Given the description of an element on the screen output the (x, y) to click on. 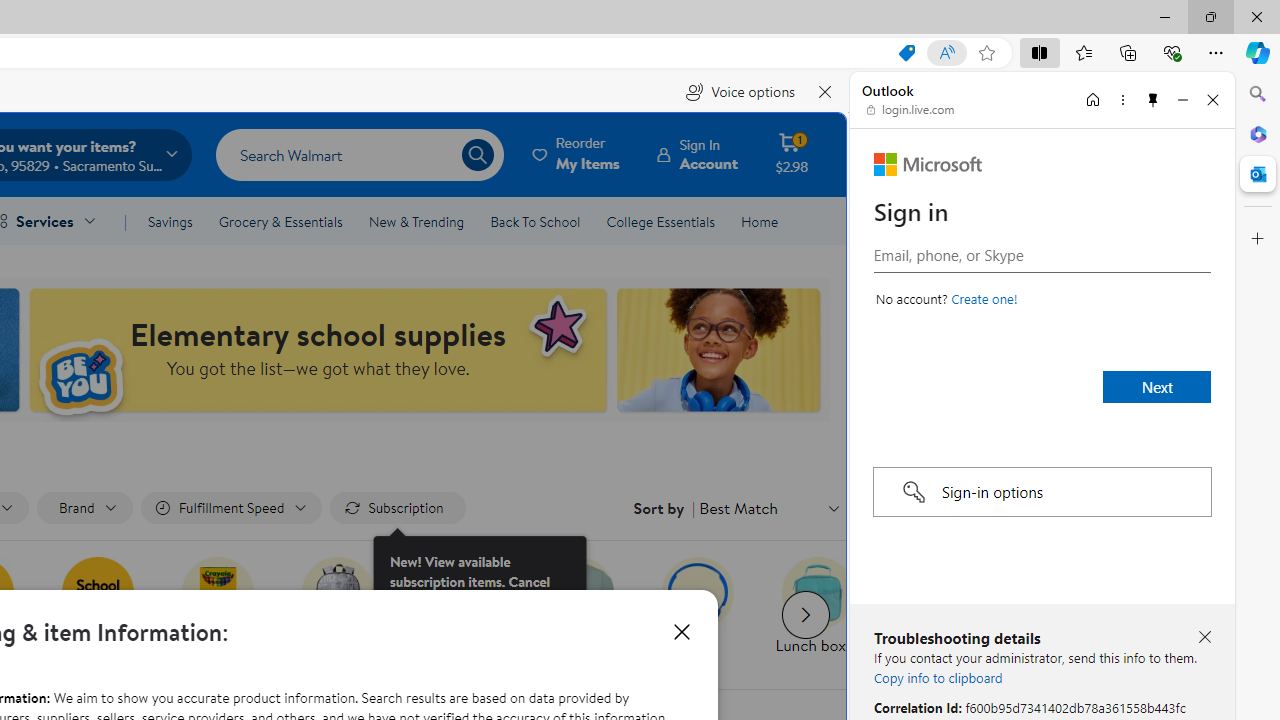
Sign-in options (1042, 492)
Close read aloud (825, 92)
This site has coupons! Shopping in Microsoft Edge, 7 (906, 53)
Close dialog (681, 631)
Next (1156, 386)
Voice options (740, 92)
Enter your email, phone, or Skype. (1042, 254)
Close troubleshooting details (1204, 636)
